Given the description of an element on the screen output the (x, y) to click on. 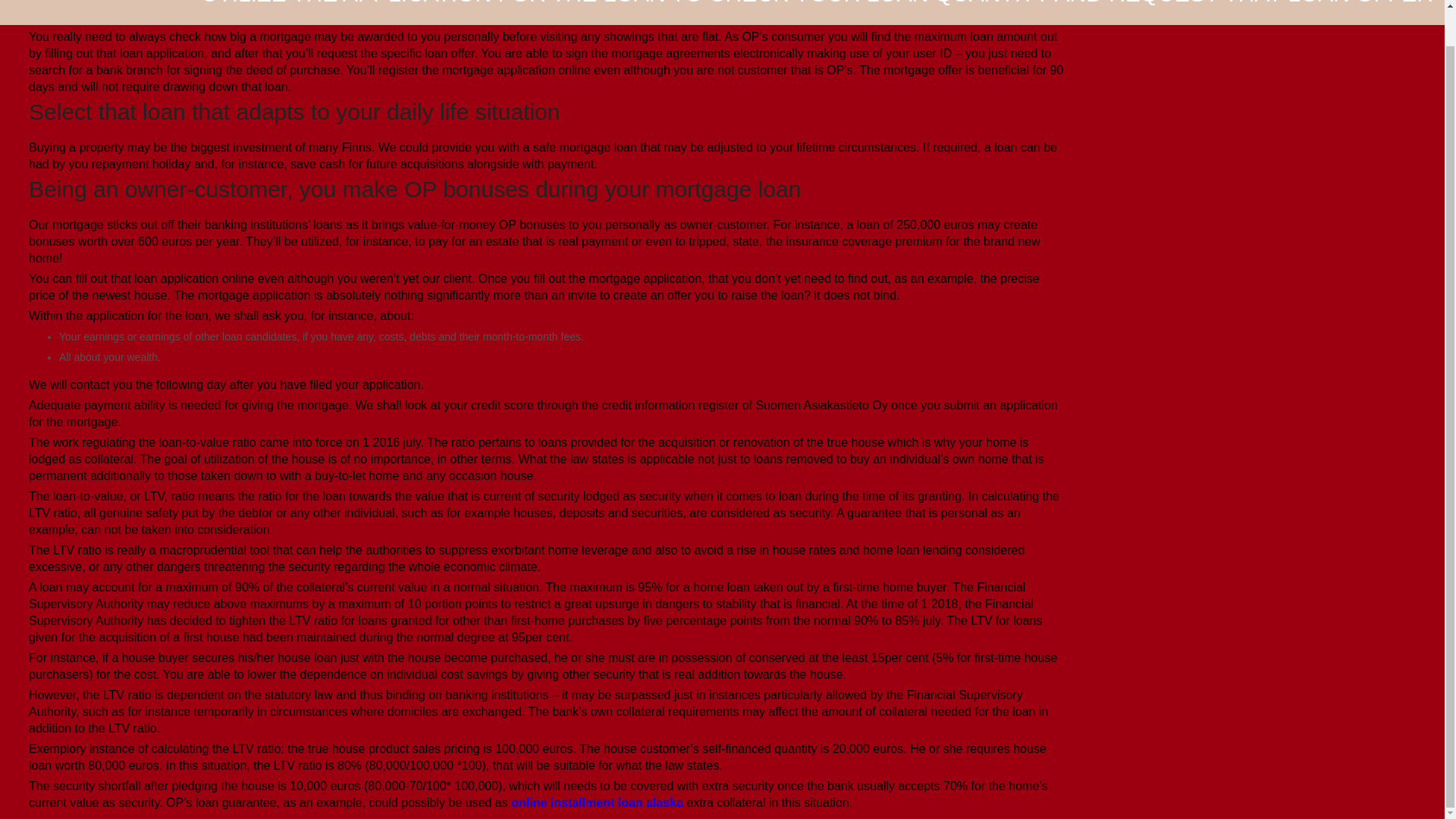
online installment loan alaska (596, 802)
